Given the description of an element on the screen output the (x, y) to click on. 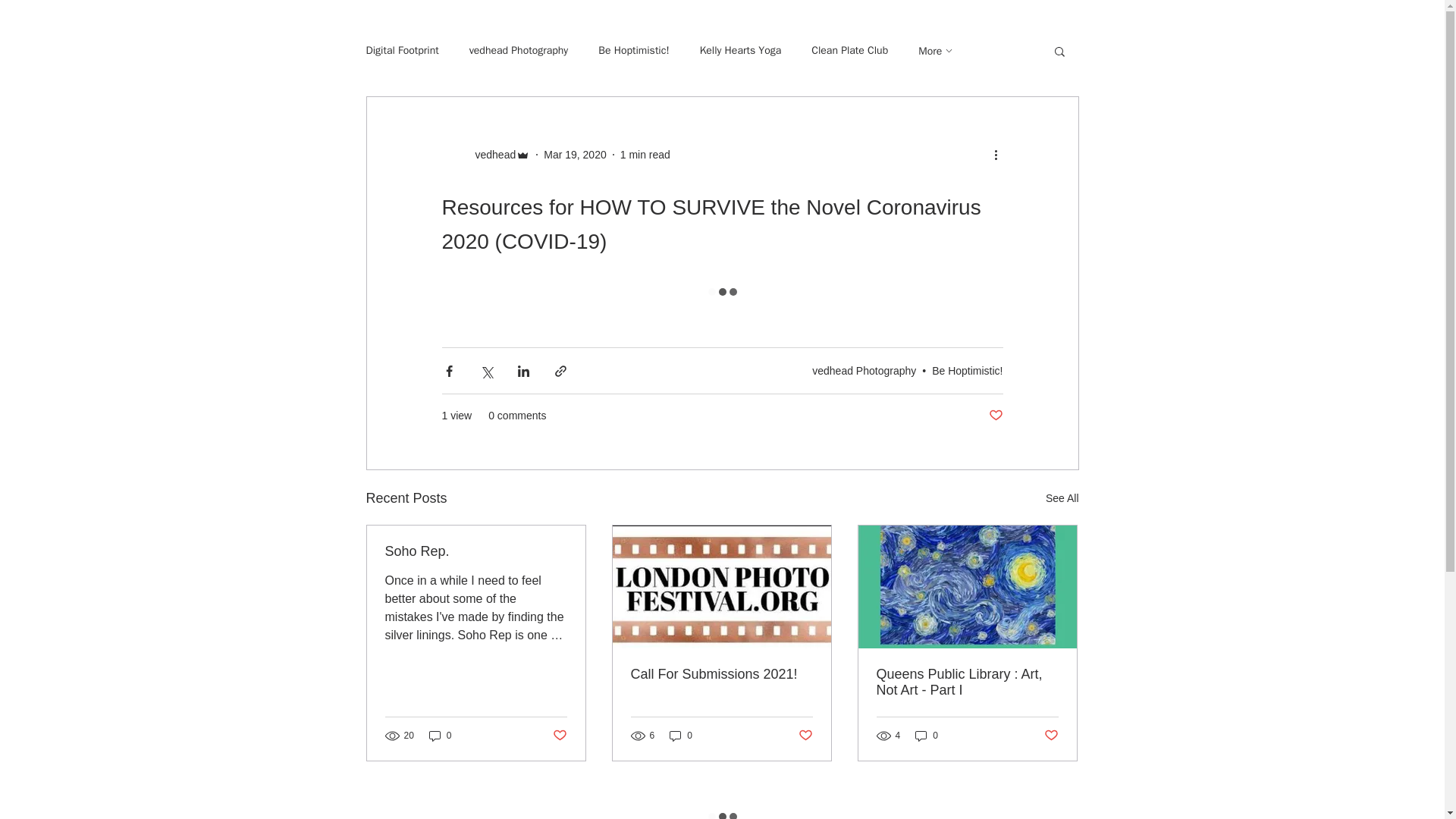
Digital Footprint (401, 50)
0 (926, 735)
Be Hoptimistic! (967, 369)
vedhead (485, 154)
vedhead Photography (518, 50)
0 (440, 735)
vedhead (490, 154)
Soho Rep. (476, 551)
Post not marked as liked (558, 735)
1 min read (644, 154)
